Given the description of an element on the screen output the (x, y) to click on. 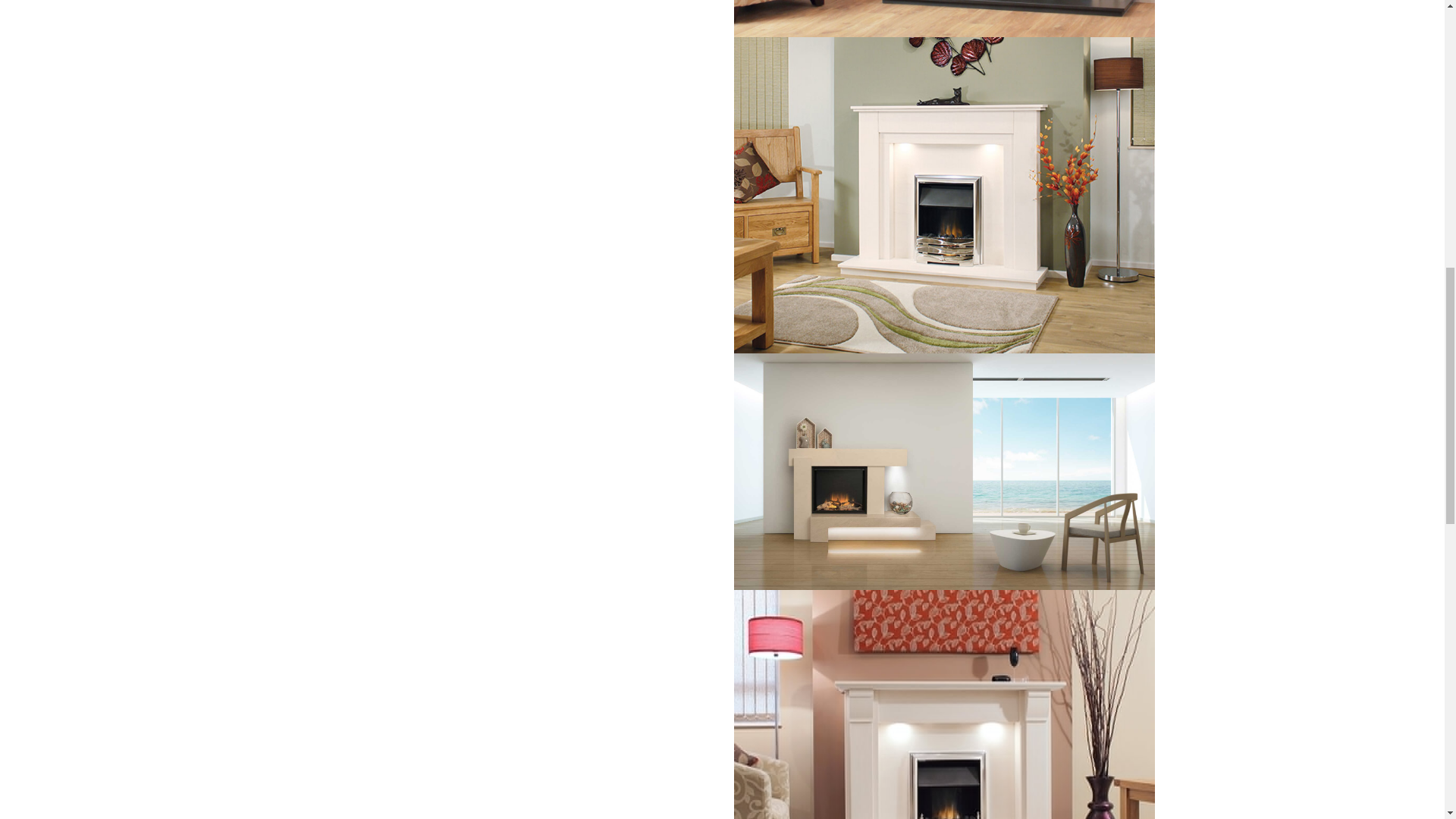
Europa-Fire-1 (943, 470)
Newman-Catalonia-1-web-large (943, 18)
camacha-fireplace (943, 704)
mertola-fireplace (943, 194)
